Given the description of an element on the screen output the (x, y) to click on. 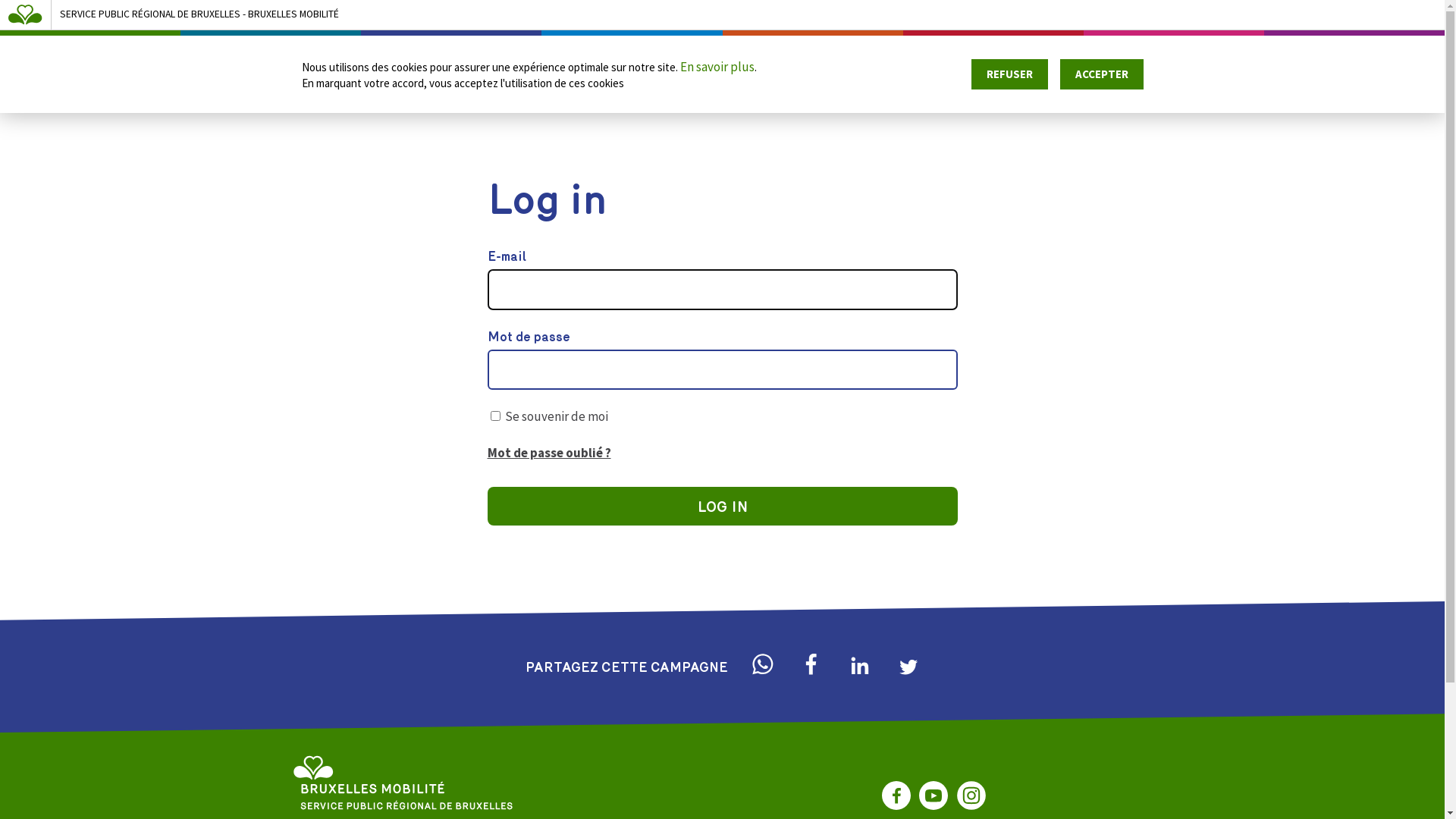
HOMEPAGE Element type: text (948, 57)
FR Element type: text (1417, 57)
Whatsapp Element type: hover (762, 663)
LOG IN Element type: text (721, 505)
FAQ Element type: text (1271, 57)
Instagram Element type: text (971, 795)
REFUSER Element type: text (1009, 74)
CLASSEMENT Element type: text (1182, 57)
YouTube Element type: text (933, 795)
PLUS D'INFOS Element type: text (1060, 57)
LOG IN Element type: text (1358, 57)
Facebook Element type: text (895, 795)
En savoir plus Element type: text (716, 67)
ACCEPTER Element type: text (1101, 74)
